Given the description of an element on the screen output the (x, y) to click on. 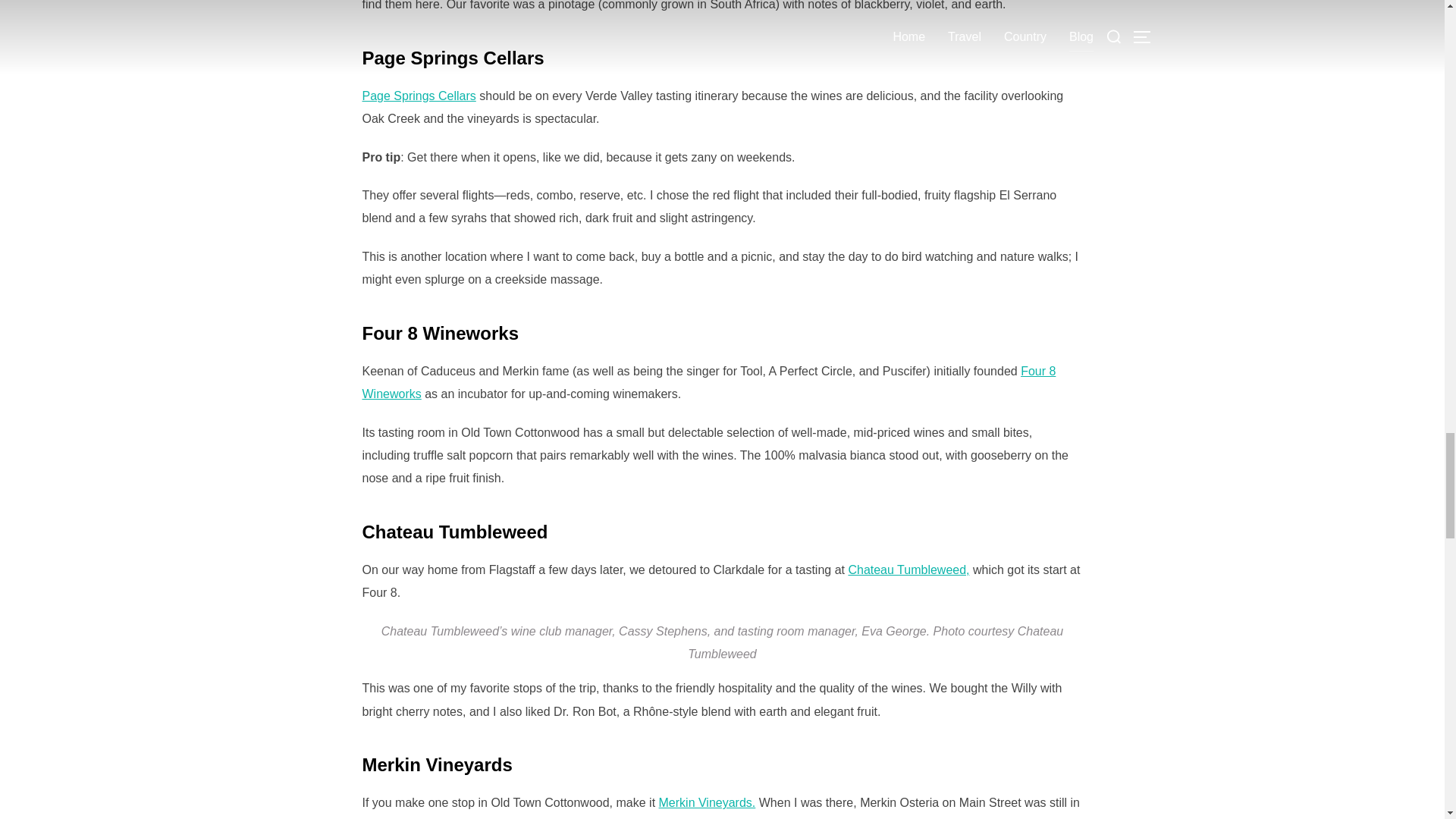
Chateau Tumbleweed, (908, 569)
Four 8 Wineworks (709, 382)
Page Springs Cellars (419, 95)
Merkin Vineyards. (707, 802)
